Given the description of an element on the screen output the (x, y) to click on. 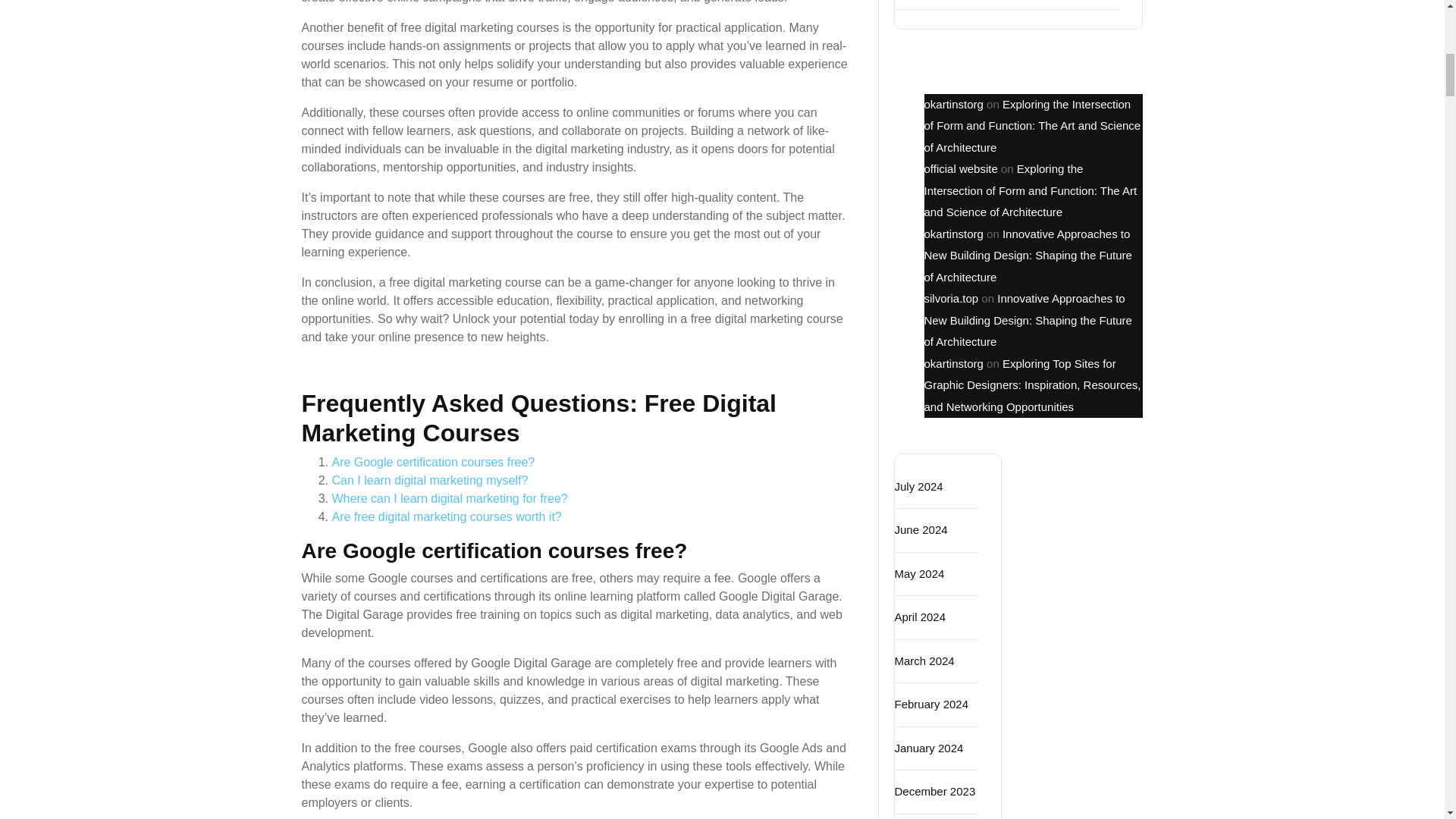
Are free digital marketing courses worth it? (446, 516)
Can I learn digital marketing myself? (429, 480)
Where can I learn digital marketing for free? (449, 498)
Are Google certification courses free? (433, 461)
